Given the description of an element on the screen output the (x, y) to click on. 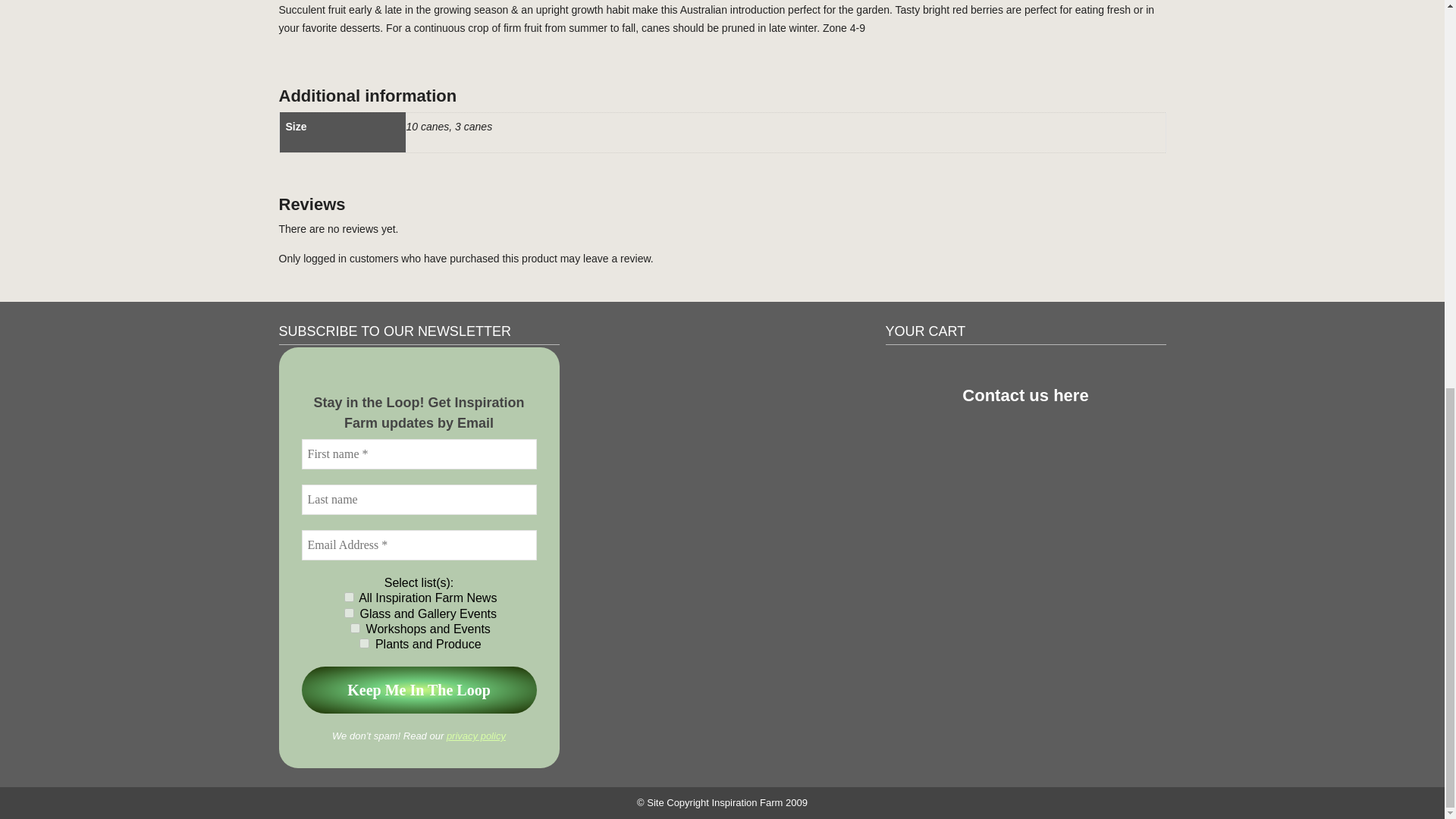
3 (348, 596)
First name (419, 453)
5 (348, 613)
Keep Me In The Loop (419, 689)
Email Address (419, 544)
6 (364, 643)
privacy policy (475, 736)
Keep Me In The Loop (419, 689)
4 (354, 628)
Last name (419, 499)
